Given the description of an element on the screen output the (x, y) to click on. 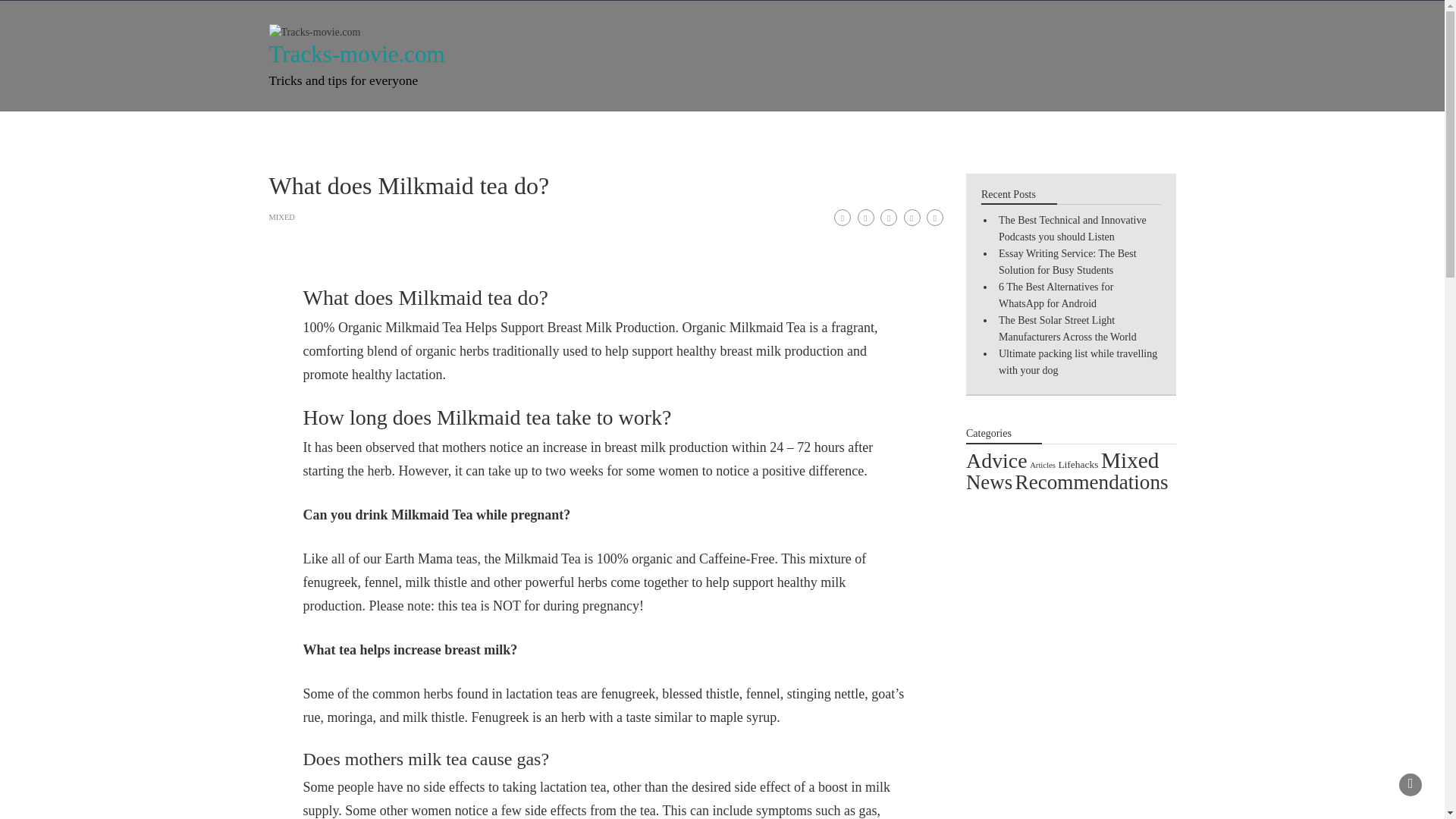
Articles (1042, 465)
Articles (573, 130)
Advice (996, 460)
Lifehacks (1077, 464)
News (508, 130)
Recommendations (731, 130)
Mixed (1129, 459)
MIXED (280, 216)
Tracks-movie.com (355, 53)
6 The Best Alternatives for WhatsApp for Android (1055, 295)
Lifehacks (370, 130)
Ultimate packing list while travelling with your dog (1077, 361)
Essay Writing Service: The Best Solution for Busy Students (1067, 262)
Advice (443, 130)
Home (301, 130)
